Given the description of an element on the screen output the (x, y) to click on. 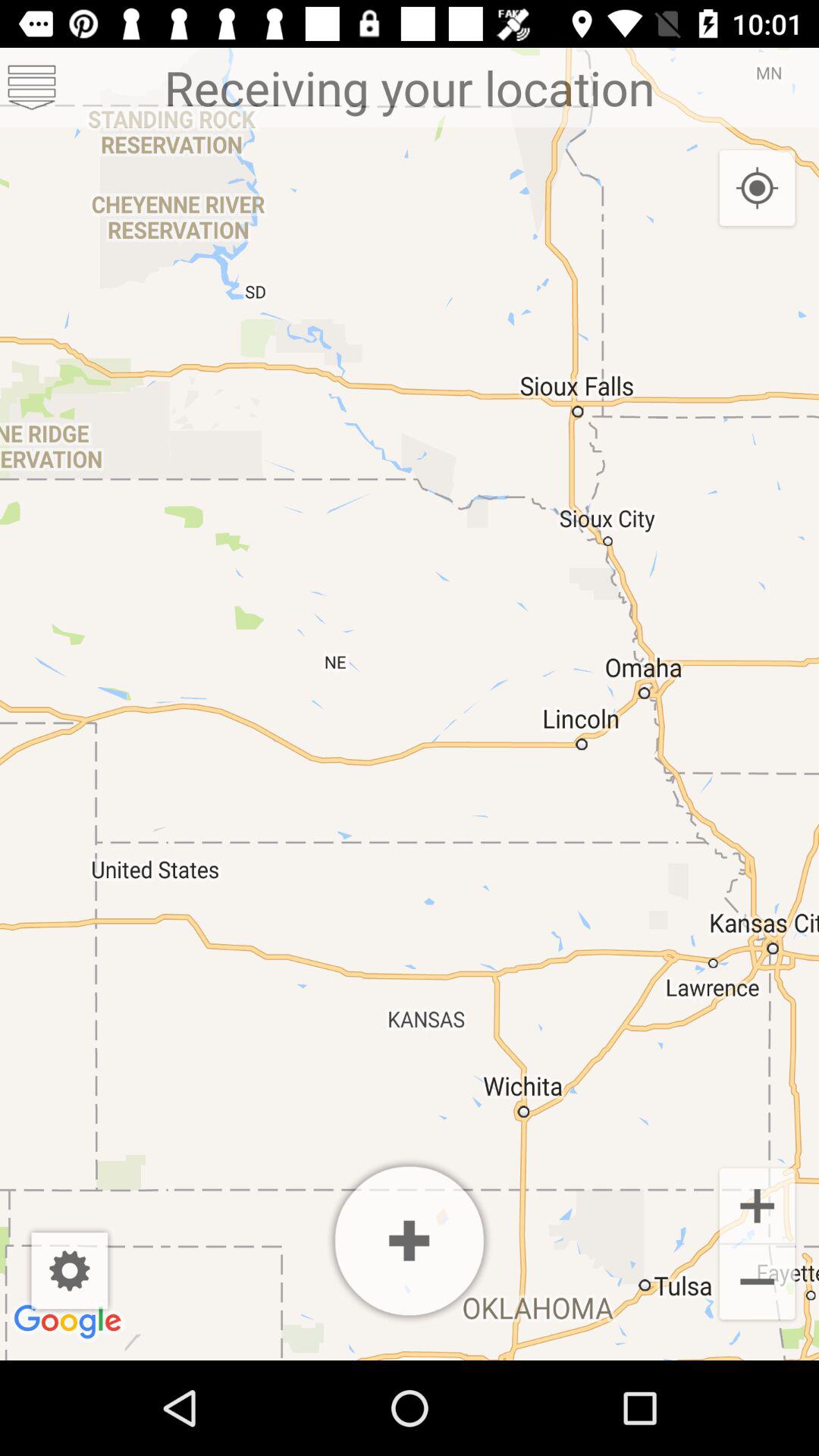
select item at the top left corner (31, 87)
